Given the description of an element on the screen output the (x, y) to click on. 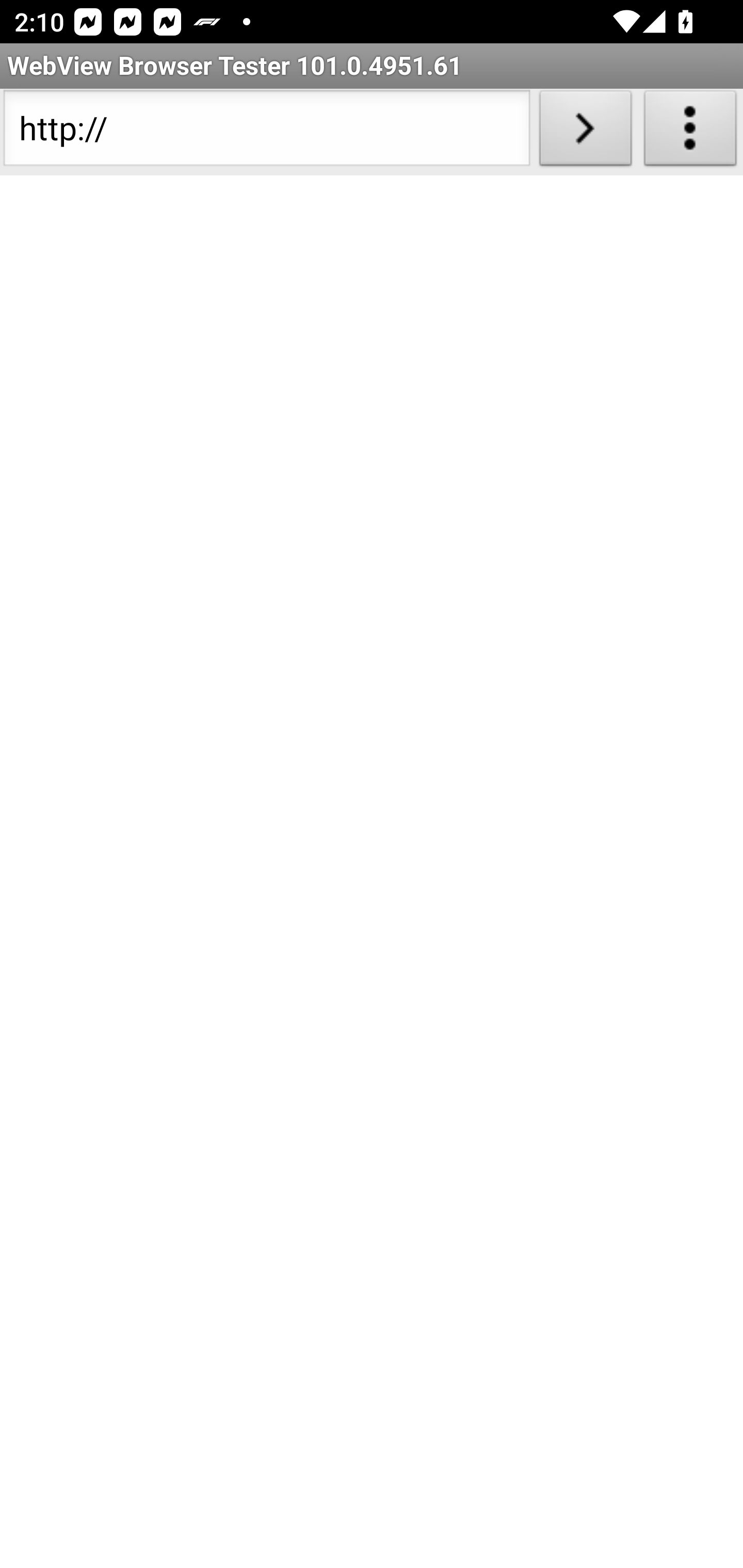
http:// (266, 132)
Load URL (585, 132)
About WebView (690, 132)
